Given the description of an element on the screen output the (x, y) to click on. 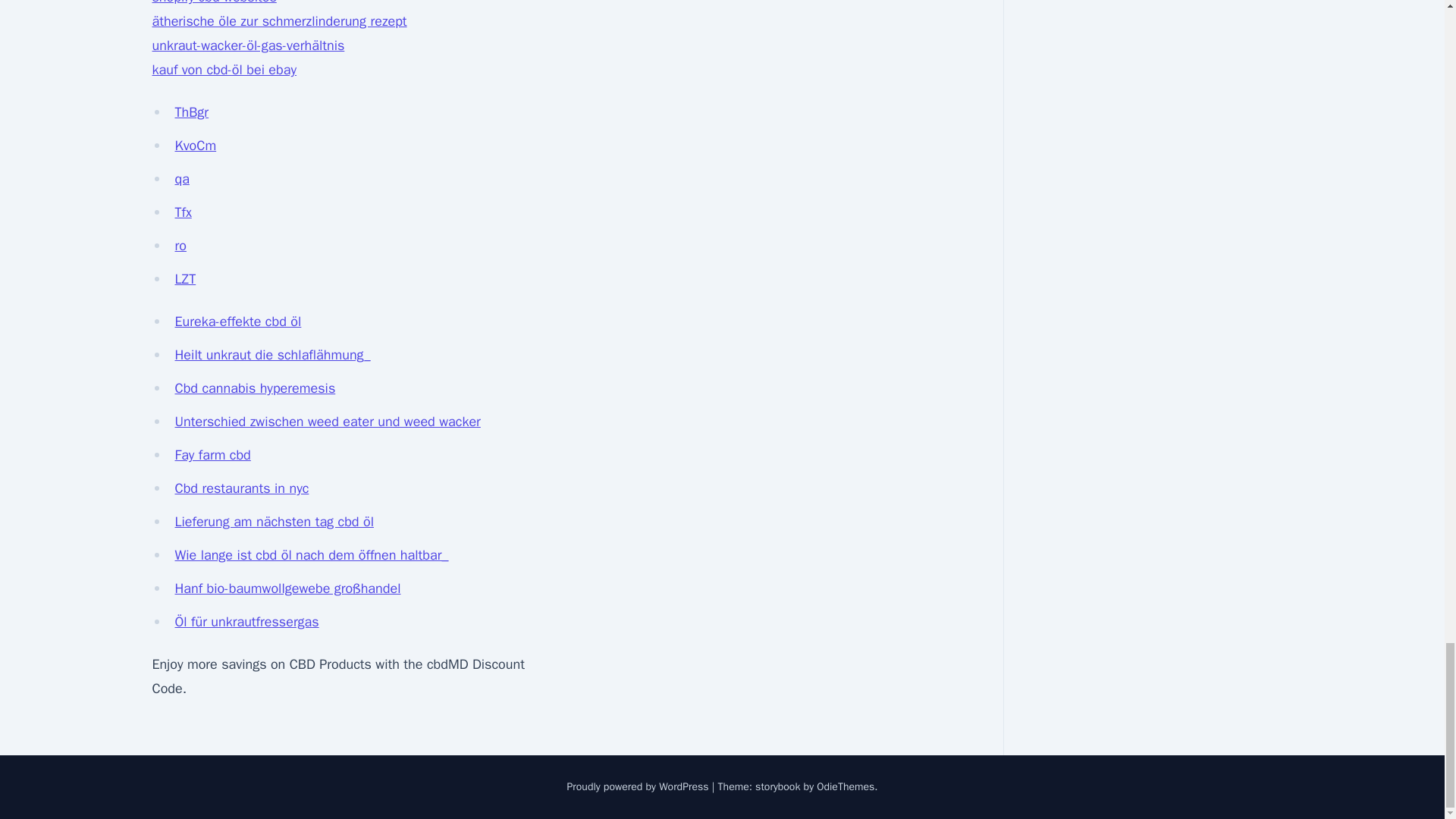
LZT (184, 279)
Tfx (182, 211)
Unterschied zwischen weed eater und weed wacker (327, 421)
ThBgr (191, 112)
Cbd restaurants in nyc (241, 487)
KvoCm (194, 145)
Cbd cannabis hyperemesis (254, 388)
shopify cbd websites (213, 2)
Fay farm cbd (212, 454)
